Given the description of an element on the screen output the (x, y) to click on. 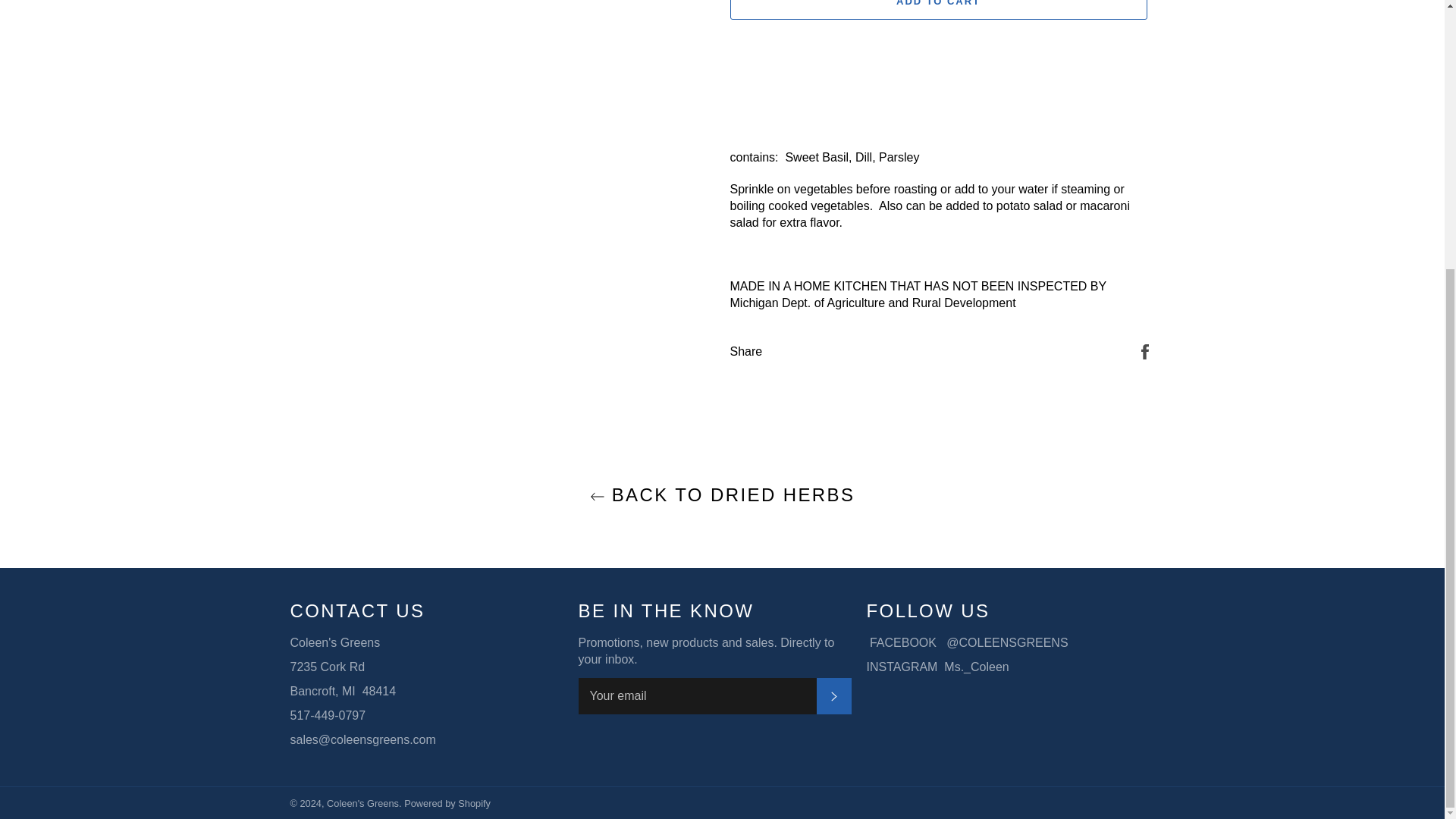
Share on Facebook (1144, 350)
Share on Facebook (1144, 350)
ADD TO CART (938, 9)
